Given the description of an element on the screen output the (x, y) to click on. 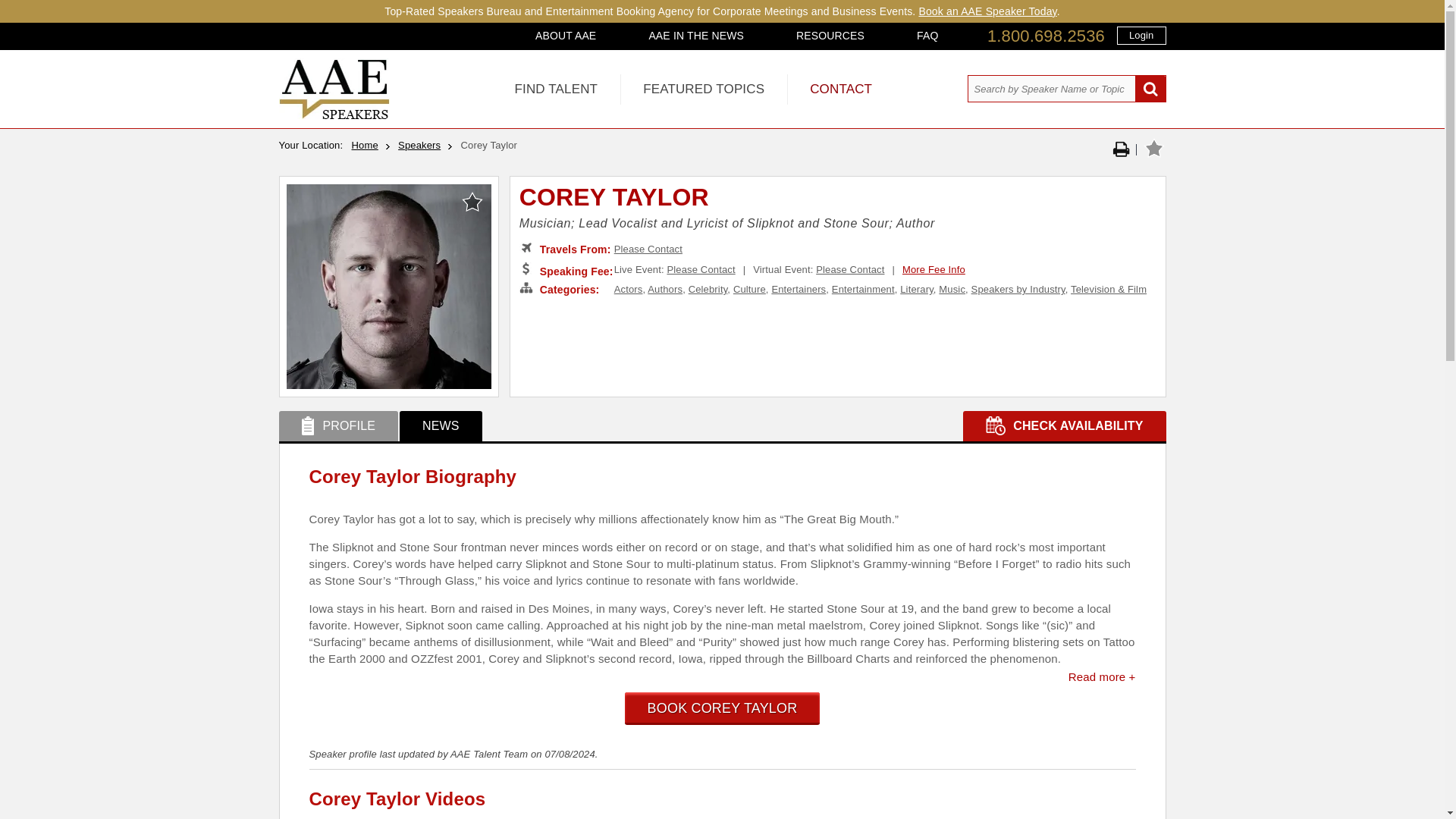
Book an AAE Speaker Today (987, 10)
1.800.698.2536 (1046, 35)
RESOURCES (829, 34)
AAE IN THE NEWS (695, 34)
ABOUT AAE (565, 34)
FAQ (927, 34)
Search (1150, 89)
Login (1141, 35)
All American Speakers Bureau and Celebrity Booking Agency (334, 115)
